Given the description of an element on the screen output the (x, y) to click on. 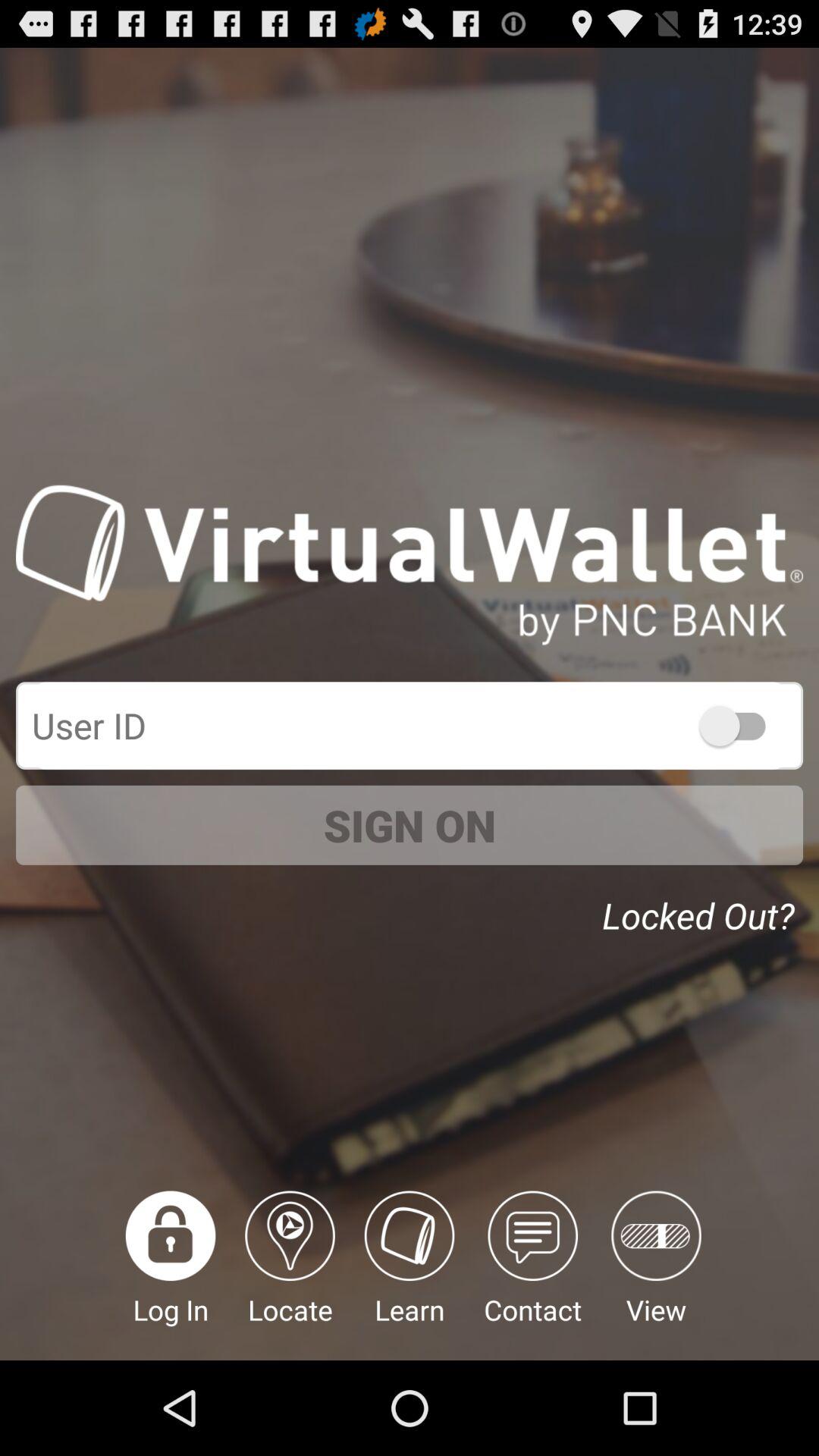
enter user id (409, 725)
